Given the description of an element on the screen output the (x, y) to click on. 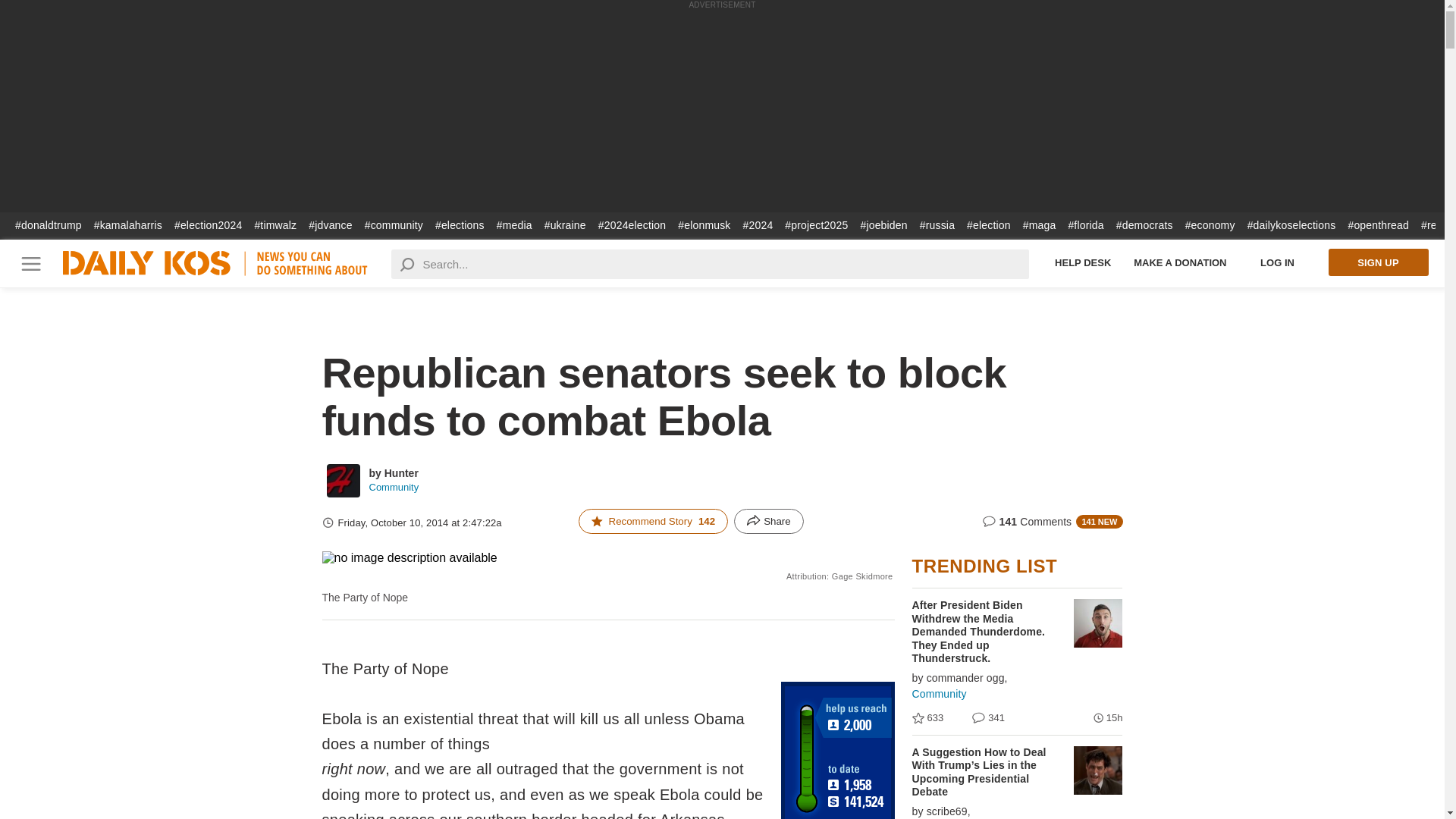
Make a Donation (1179, 262)
Help Desk (1082, 262)
MAKE A DONATION (1179, 262)
